Given the description of an element on the screen output the (x, y) to click on. 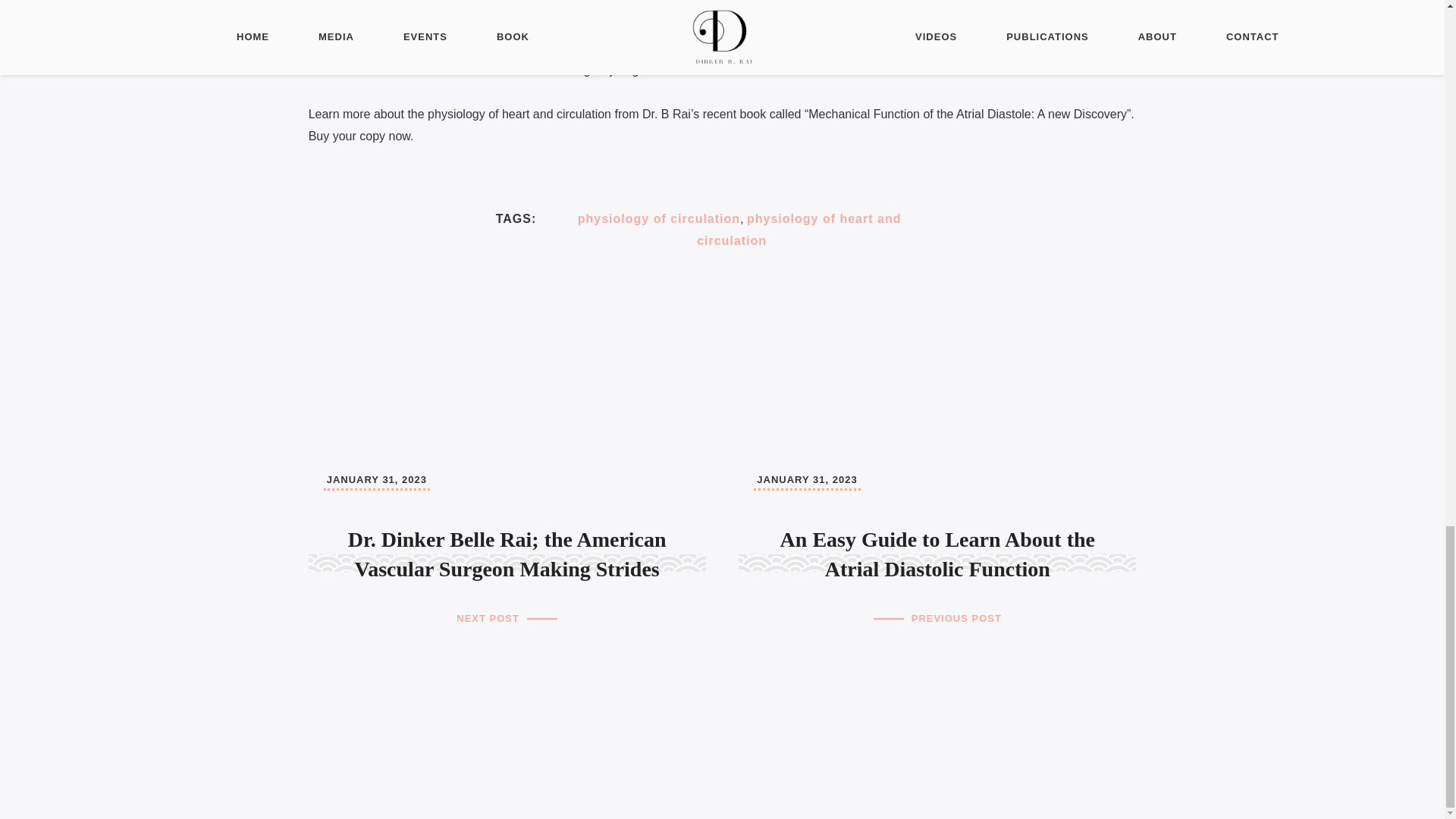
physiology of heart and circulation (799, 229)
physiology of circulation (658, 218)
